Given the description of an element on the screen output the (x, y) to click on. 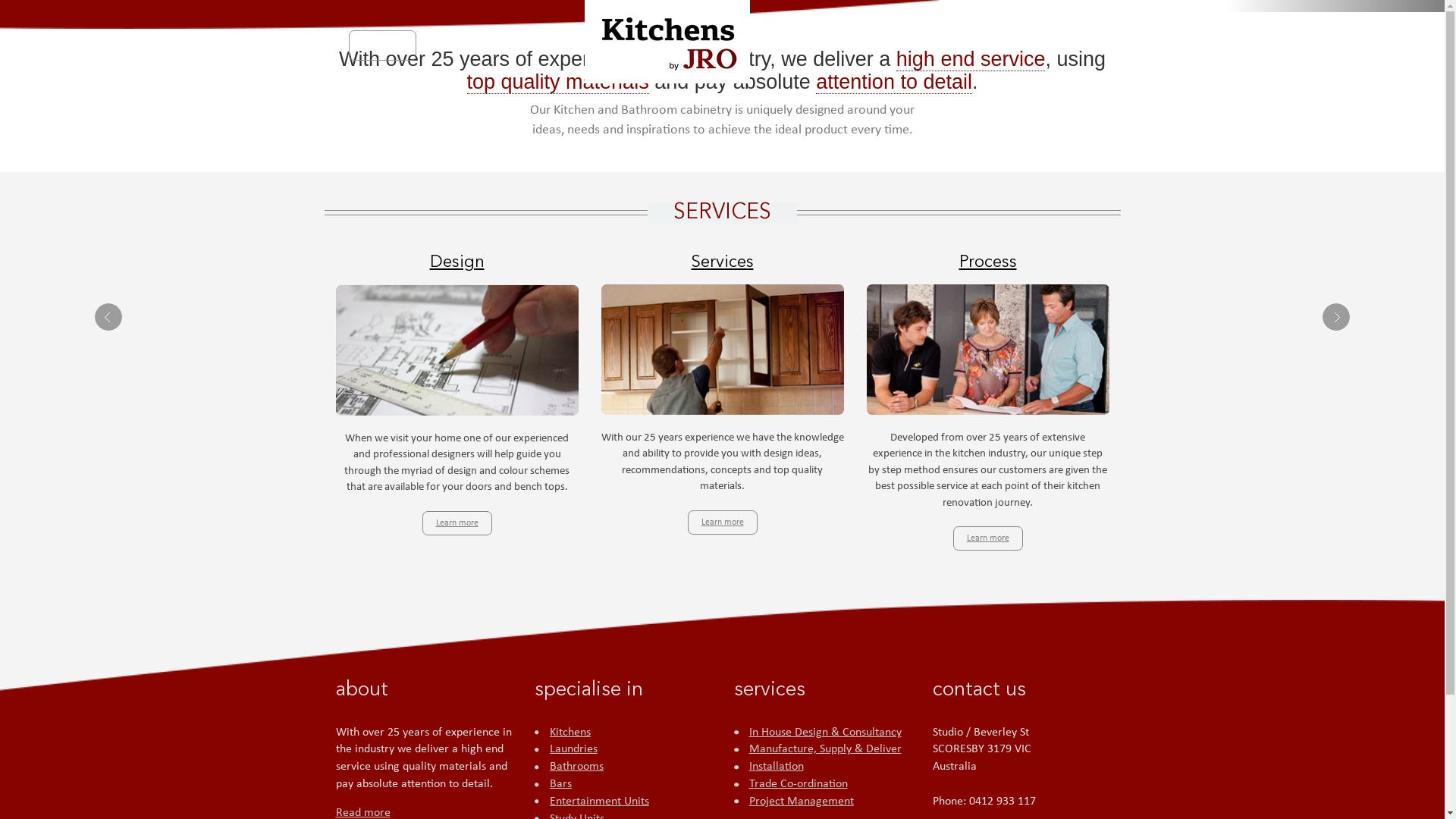
ABOUT Element type: text (453, 45)
Today Element type: text (721, 448)
CONTACT US Element type: text (1057, 45)
SERVICES Element type: text (533, 45)
Services Element type: text (722, 800)
HOME Element type: text (382, 45)
GALLERY Element type: text (964, 45)
Process Element type: text (987, 800)
Design Element type: text (456, 800)
DESIGN Element type: text (801, 45)
PROCESS Element type: text (881, 45)
